Given the description of an element on the screen output the (x, y) to click on. 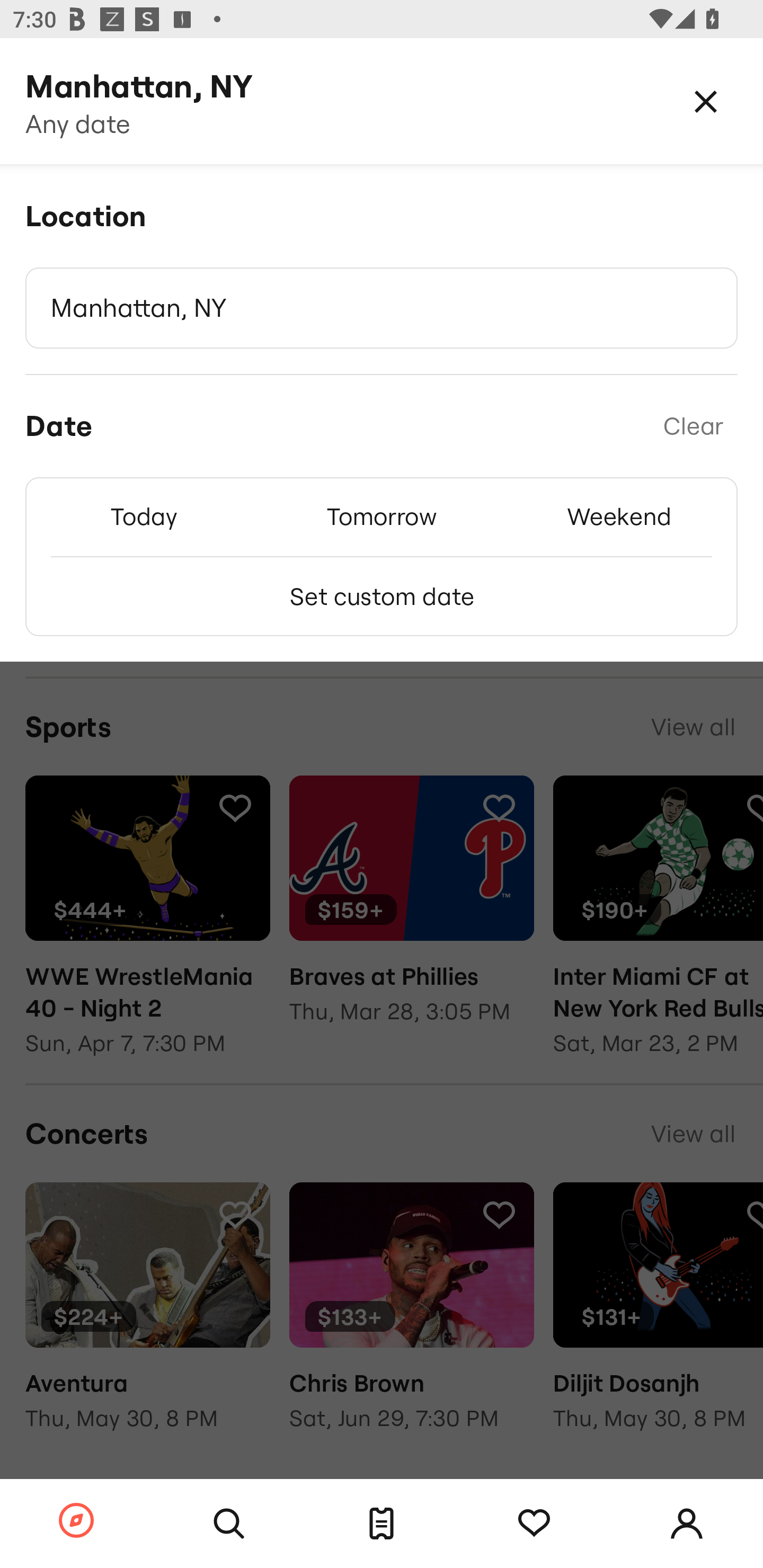
Close (705, 100)
Manhattan, NY (381, 308)
Clear (693, 426)
Today (143, 516)
Tomorrow (381, 516)
Weekend (618, 516)
Set custom date (381, 596)
Browse (76, 1521)
Search (228, 1523)
Tickets (381, 1523)
Tracking (533, 1523)
Account (686, 1523)
